Given the description of an element on the screen output the (x, y) to click on. 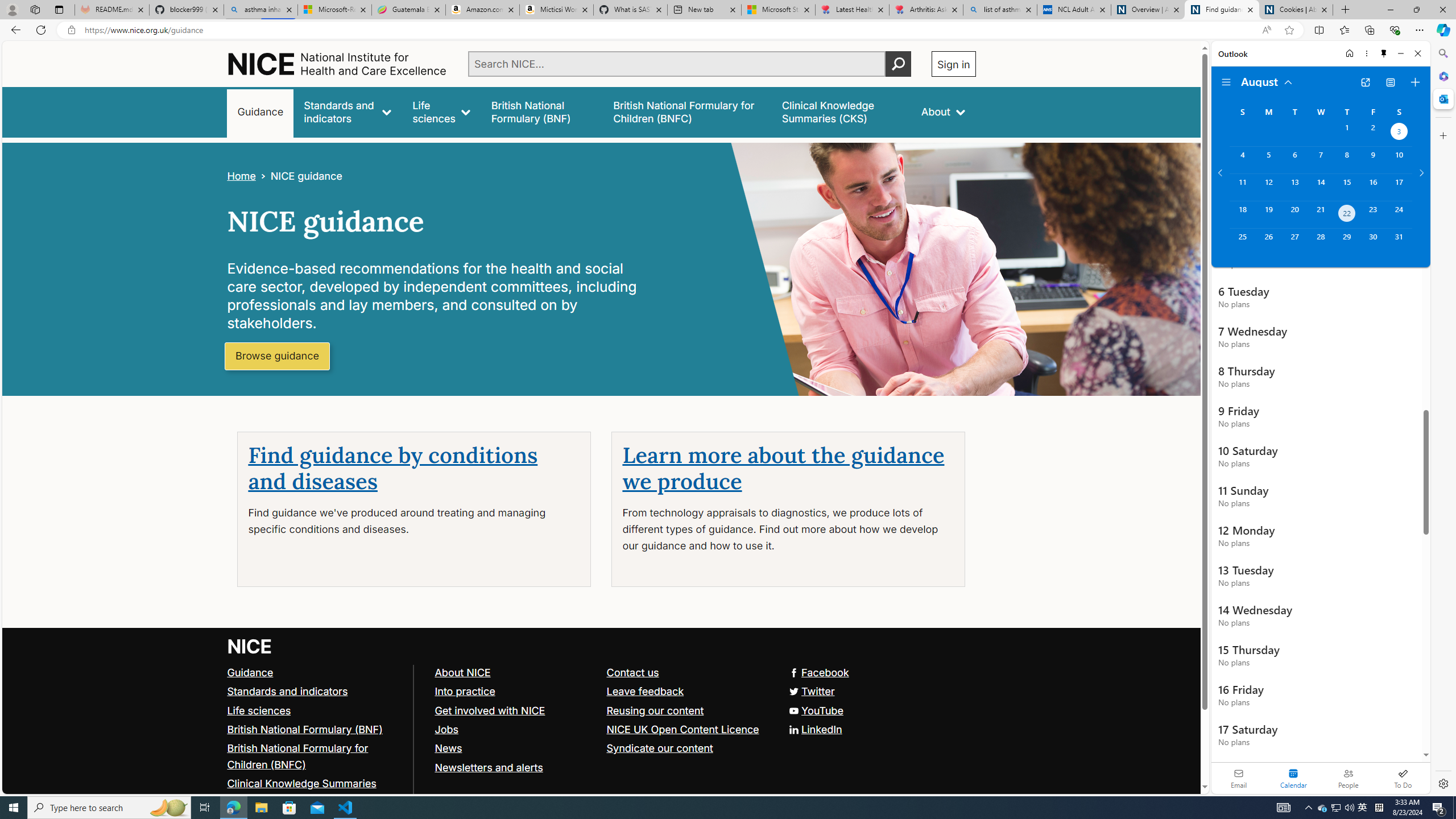
Syndicate our content (659, 748)
Saturday, August 24, 2024.  (1399, 214)
Guidance (250, 671)
August (1267, 80)
About NICE (461, 671)
Newsletters and alerts (488, 766)
Wednesday, August 21, 2024.  (1320, 214)
